Given the description of an element on the screen output the (x, y) to click on. 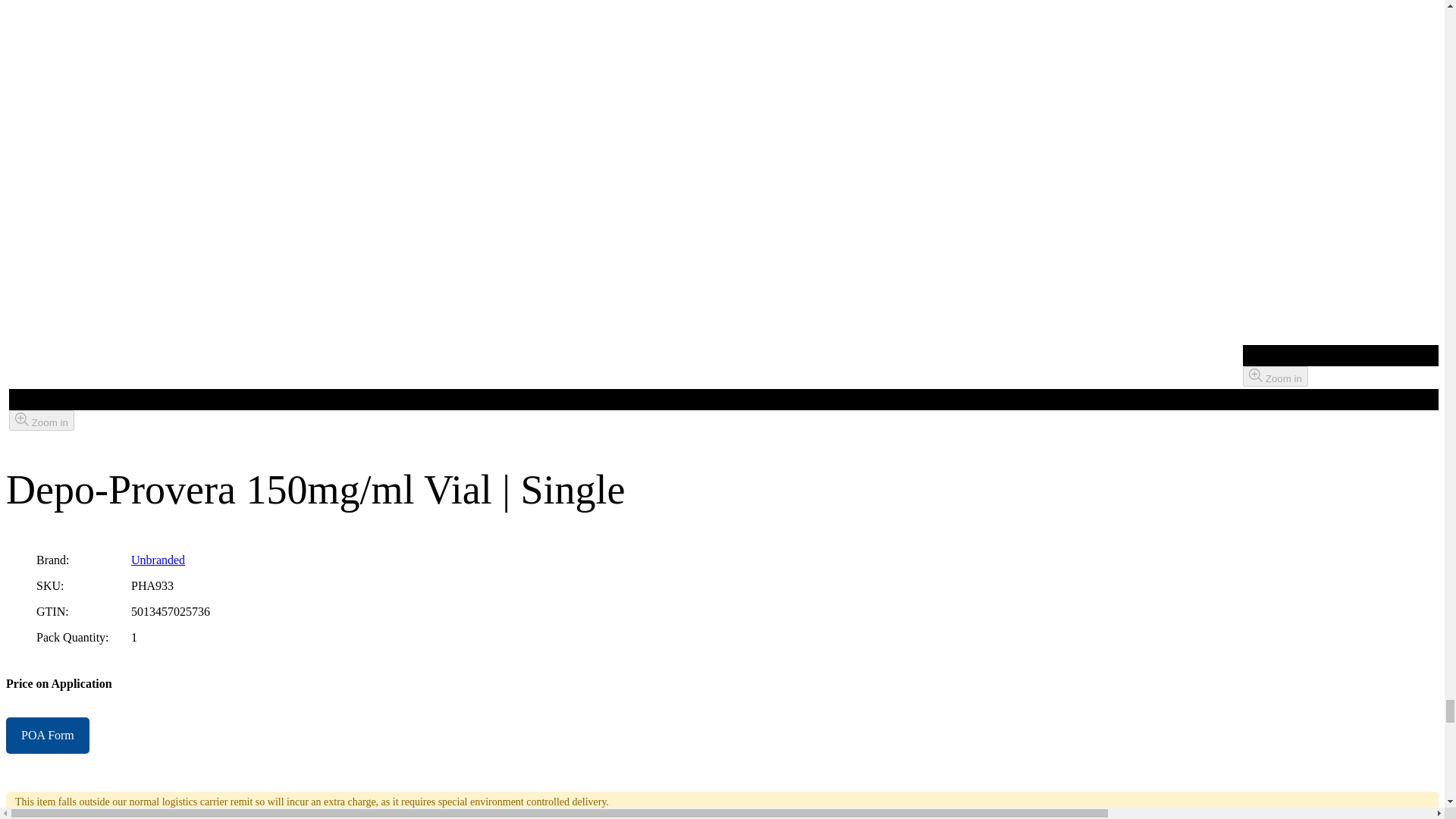
Unbranded (157, 559)
